Given the description of an element on the screen output the (x, y) to click on. 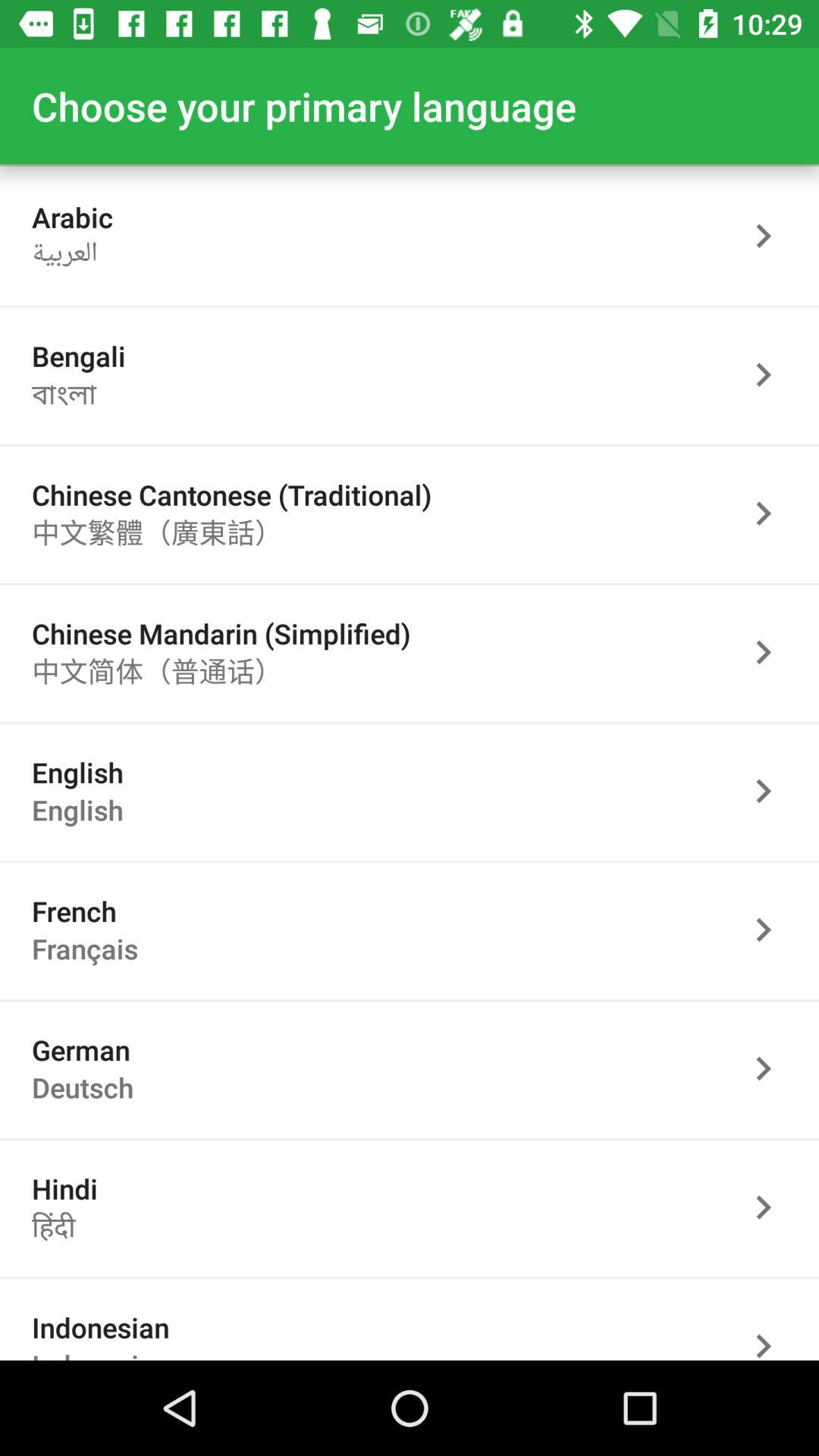
go back (771, 652)
